Given the description of an element on the screen output the (x, y) to click on. 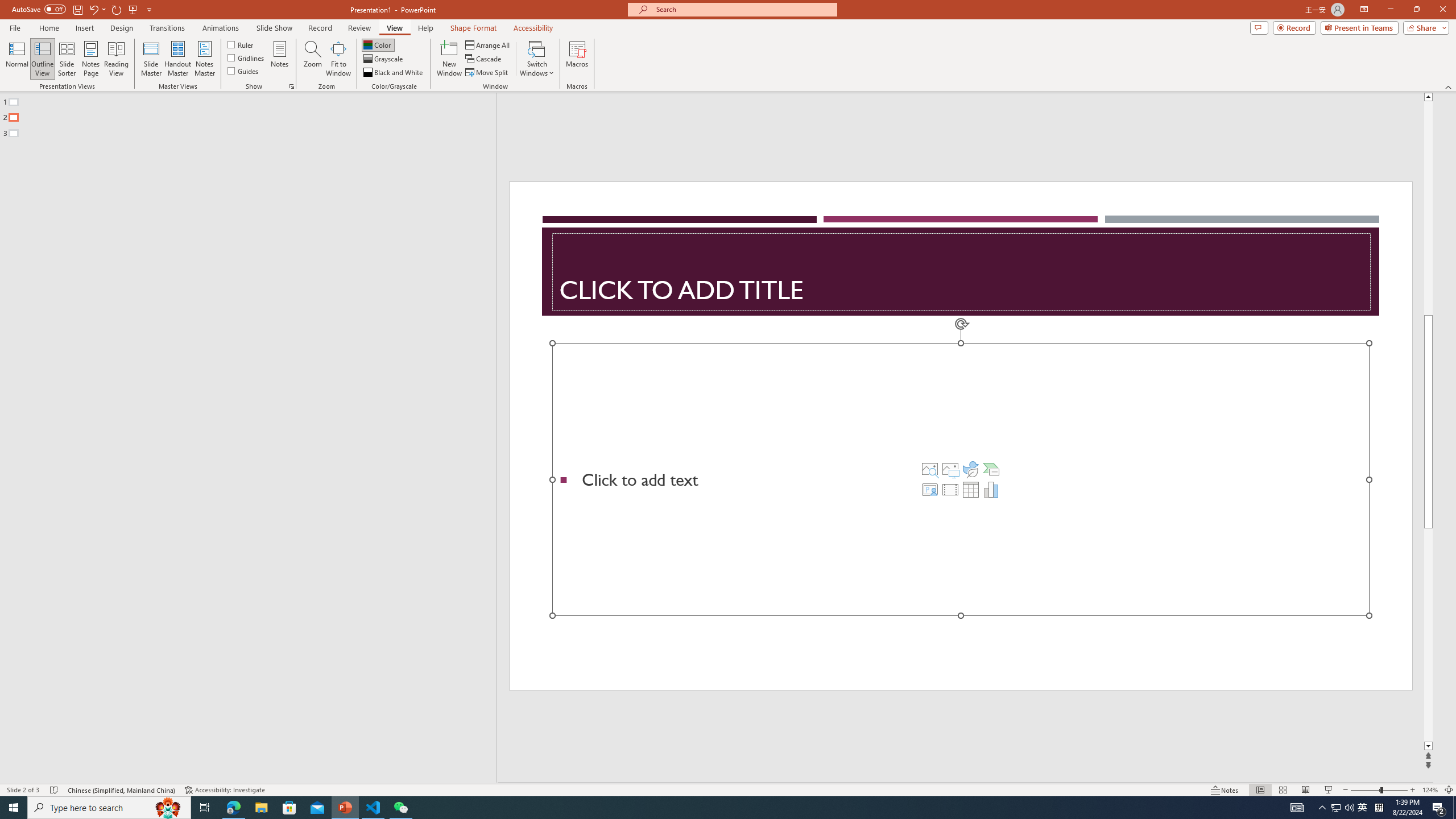
Notes Master (204, 58)
Fit to Window (338, 58)
Black and White (393, 72)
Gridlines (246, 56)
Ruler (241, 44)
Notes Page (90, 58)
